Given the description of an element on the screen output the (x, y) to click on. 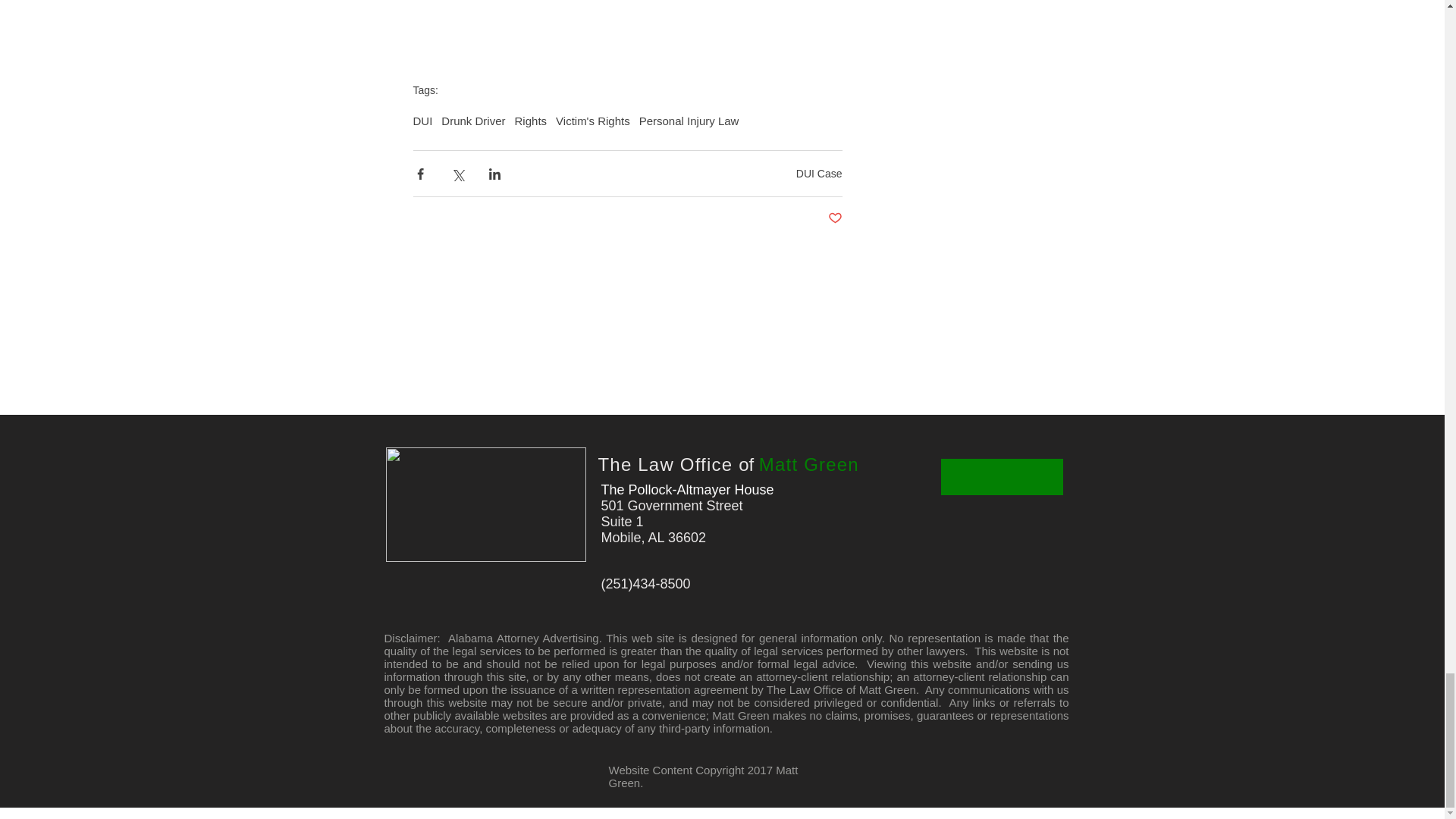
Drunk Driver (473, 120)
Post not marked as liked (835, 218)
Victim's Rights (593, 120)
DUI (422, 120)
DUI Case (819, 173)
Personal Injury Law (689, 120)
Rights (531, 120)
